Given the description of an element on the screen output the (x, y) to click on. 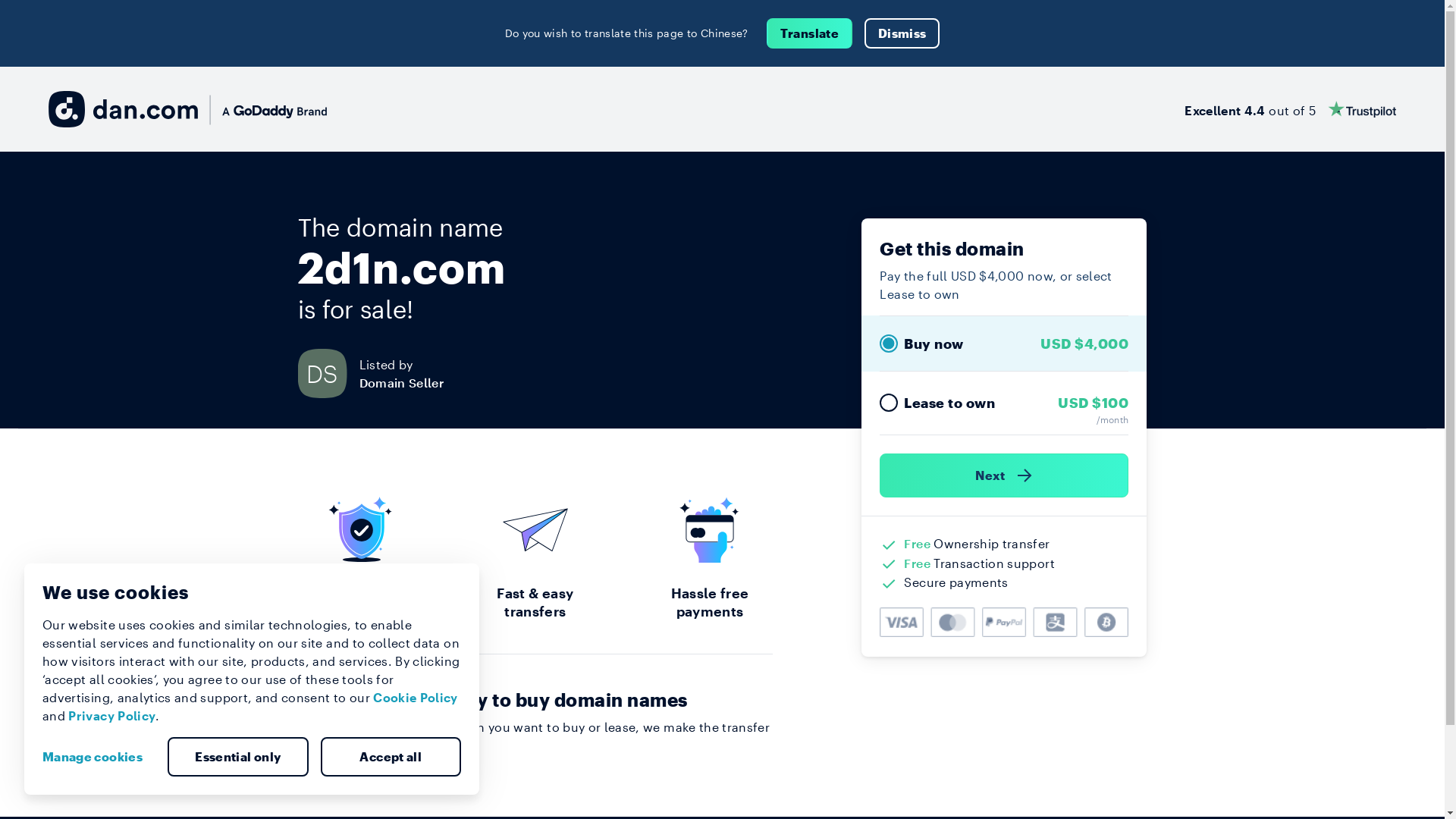
Next
) Element type: text (1003, 475)
Dismiss Element type: text (901, 33)
Privacy Policy Element type: text (111, 715)
Excellent 4.4 out of 5 Element type: text (1290, 109)
Cookie Policy Element type: text (415, 697)
Accept all Element type: text (390, 756)
Essential only Element type: text (237, 756)
Translate Element type: text (809, 33)
Manage cookies Element type: text (98, 756)
